Given the description of an element on the screen output the (x, y) to click on. 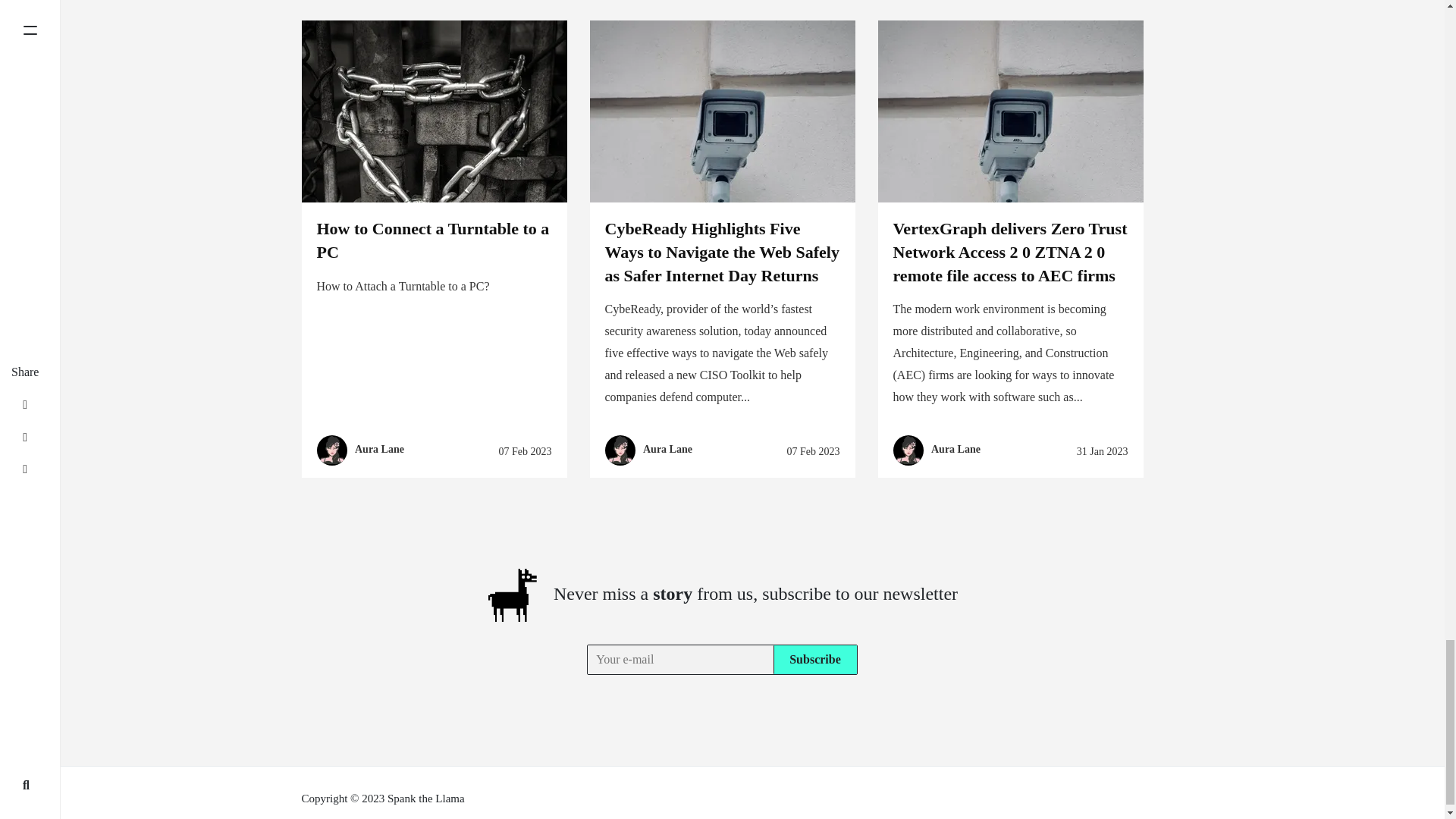
How to Connect a Turntable to a PC (433, 240)
Aura Lane (955, 449)
Subscribe (815, 659)
Aura Lane (379, 449)
Aura Lane (668, 449)
Subscribe (815, 659)
